Given the description of an element on the screen output the (x, y) to click on. 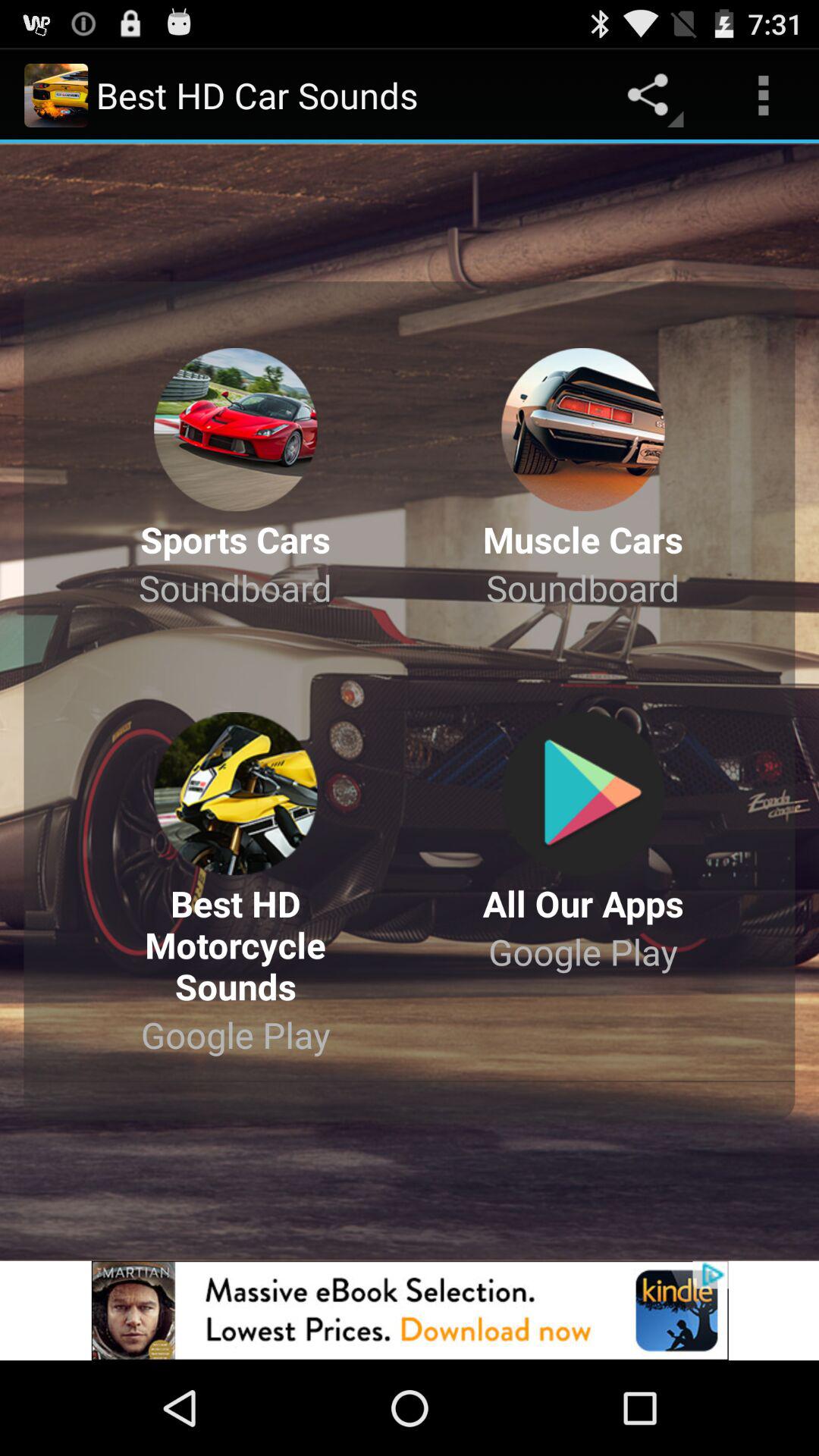
click on the image above muscle cars (583, 429)
click the share button on the web page (651, 95)
